Given the description of an element on the screen output the (x, y) to click on. 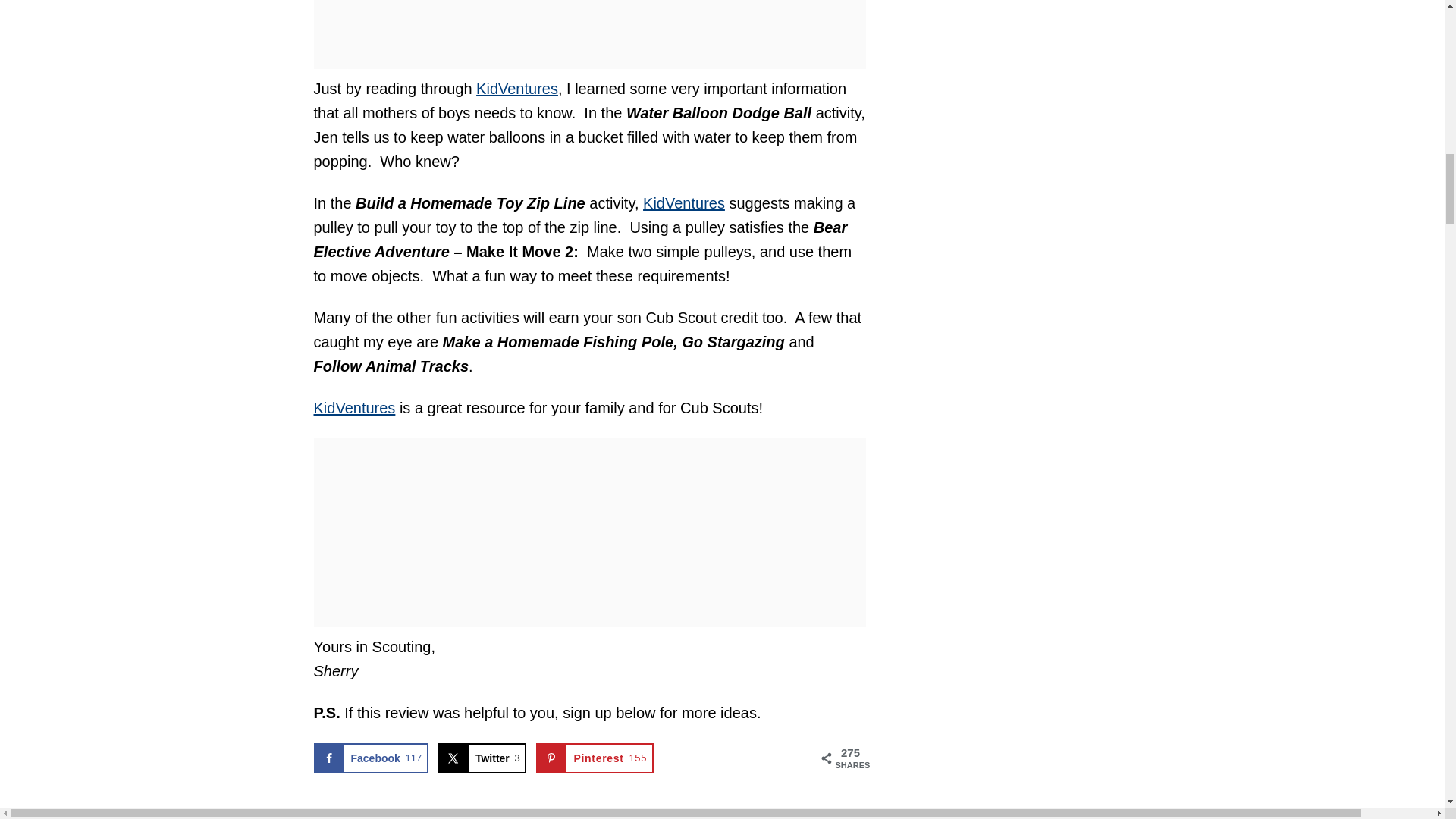
Share on Facebook (371, 757)
Save to Pinterest (593, 757)
Share on X (481, 757)
